Given the description of an element on the screen output the (x, y) to click on. 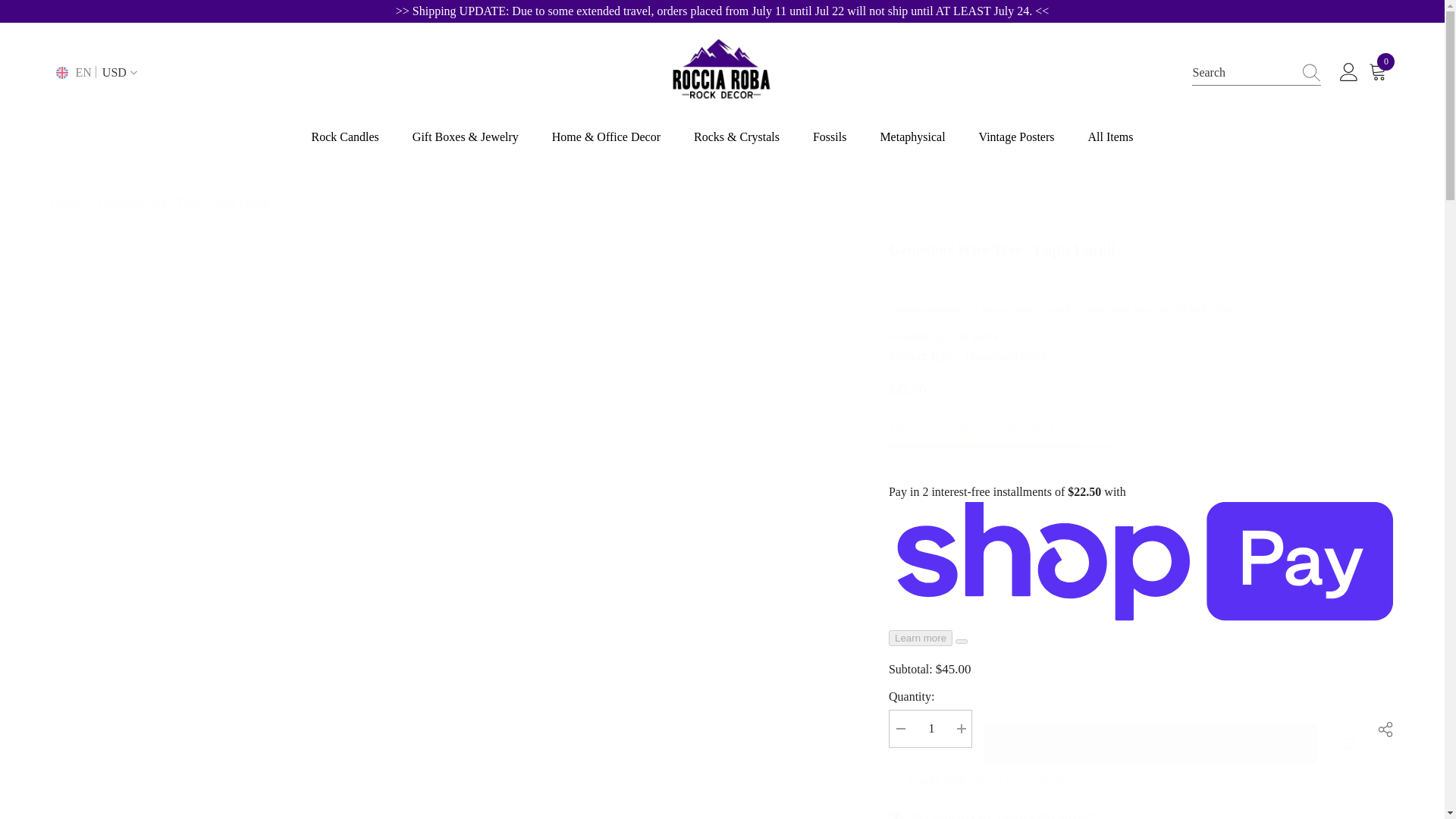
ADD TO CART (1150, 742)
Add to wishlist (1347, 743)
Metaphysical (911, 144)
Log in (1348, 72)
10 customers are viewing this product (1140, 813)
Fossils (829, 144)
